Given the description of an element on the screen output the (x, y) to click on. 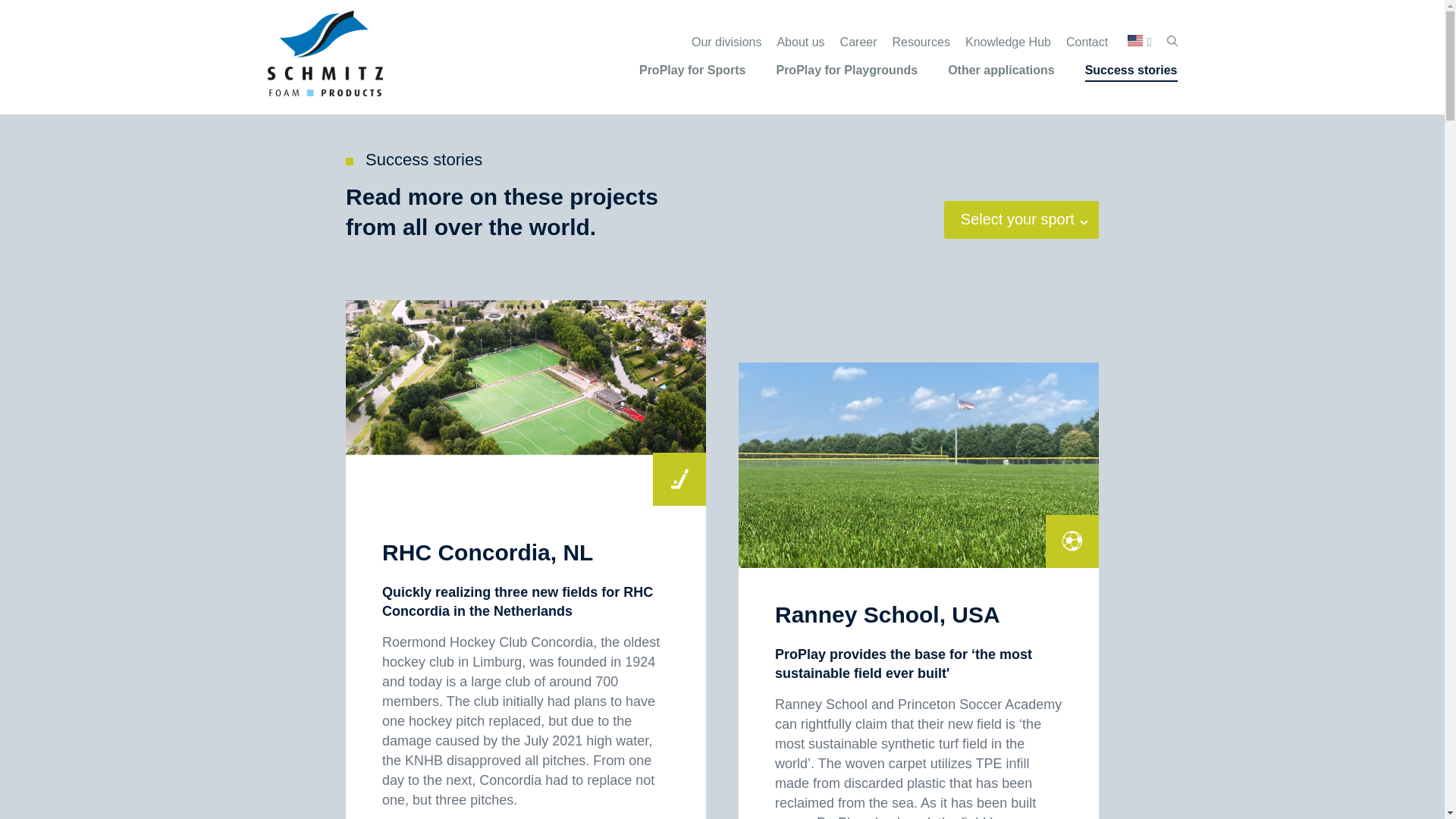
Knowledge Hub (1008, 44)
Success stories (1130, 72)
Contact (1086, 44)
Select your sport (1017, 219)
ProPlay for Playgrounds (846, 72)
US (1138, 40)
ProPlay for Sports (692, 72)
Other applications (1000, 72)
Our divisions (726, 44)
Career (858, 44)
